Given the description of an element on the screen output the (x, y) to click on. 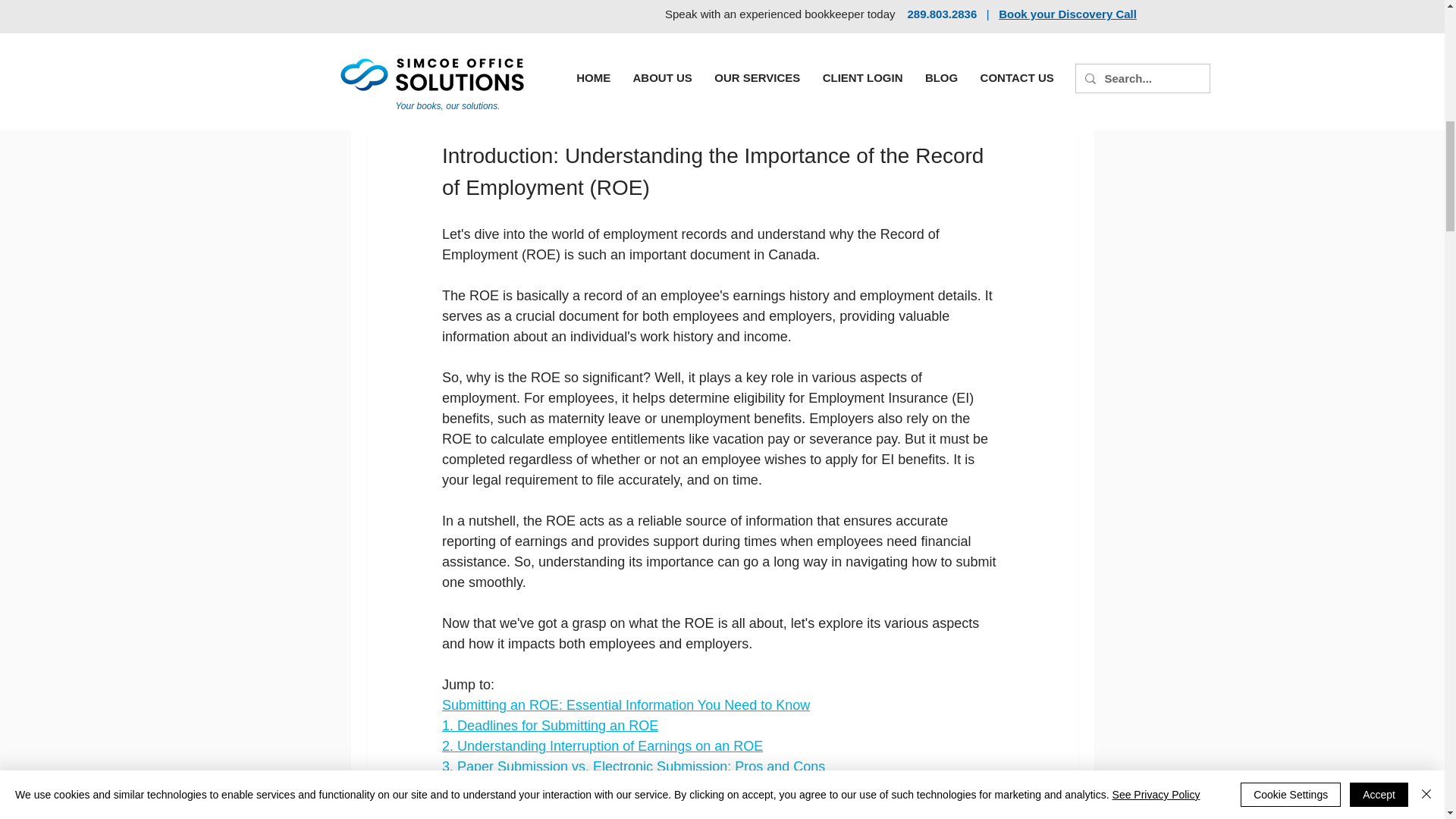
Submitting an ROE: Essential Information You Need to Know (625, 704)
